Given the description of an element on the screen output the (x, y) to click on. 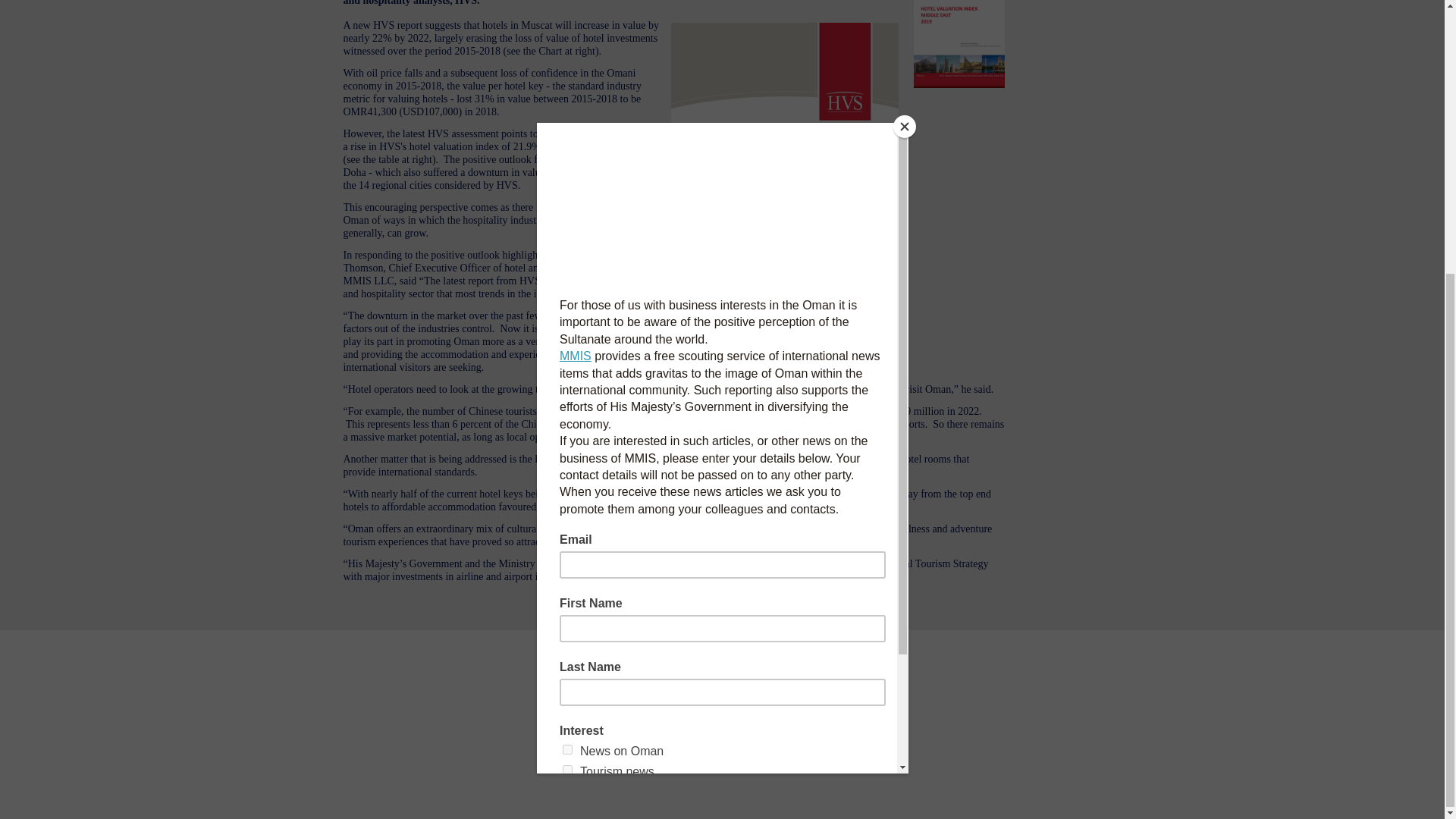
Index (578, 597)
